Given the description of an element on the screen output the (x, y) to click on. 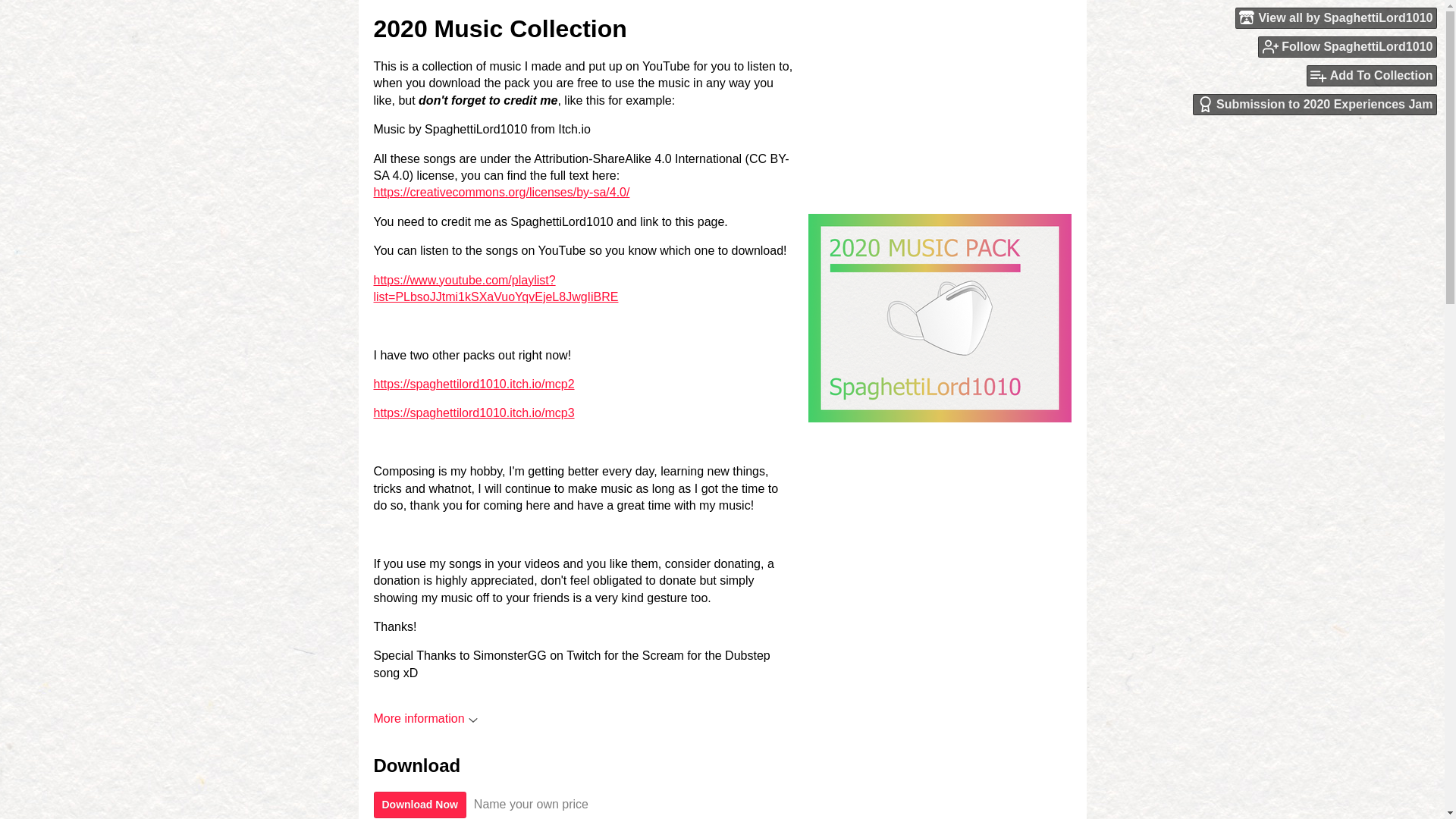
Add To Collection (1371, 75)
More information (424, 717)
View all by SpaghettiLord1010 (1335, 17)
Submission to 2020 Experiences Jam (1314, 104)
Download Now (418, 804)
Follow SpaghettiLord1010 (1347, 46)
